Given the description of an element on the screen output the (x, y) to click on. 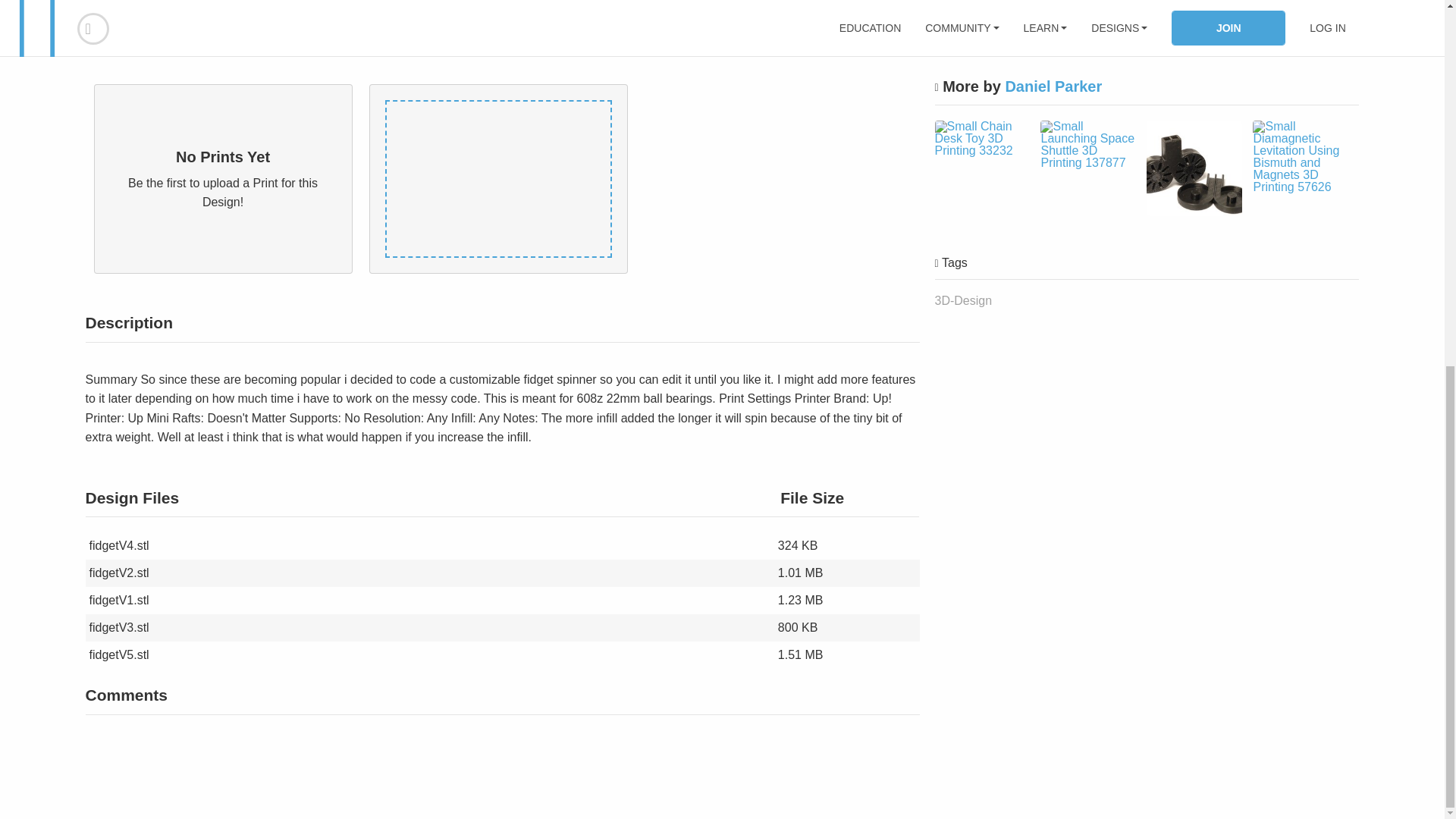
Upload a Print (842, 33)
Small Launching Space Shuttle 3D Printing 137877 (1088, 144)
Small Angular Fidget Spinner 3D Printing 135801 (981, 18)
Small Chain Desk Toy 3D Printing 33232 (981, 138)
Small Duel Spinning Whistle 3D Printing 44171 (1194, 168)
Small Customizable Fidget Spinner 3D Printing 116601 (1088, 0)
